Given the description of an element on the screen output the (x, y) to click on. 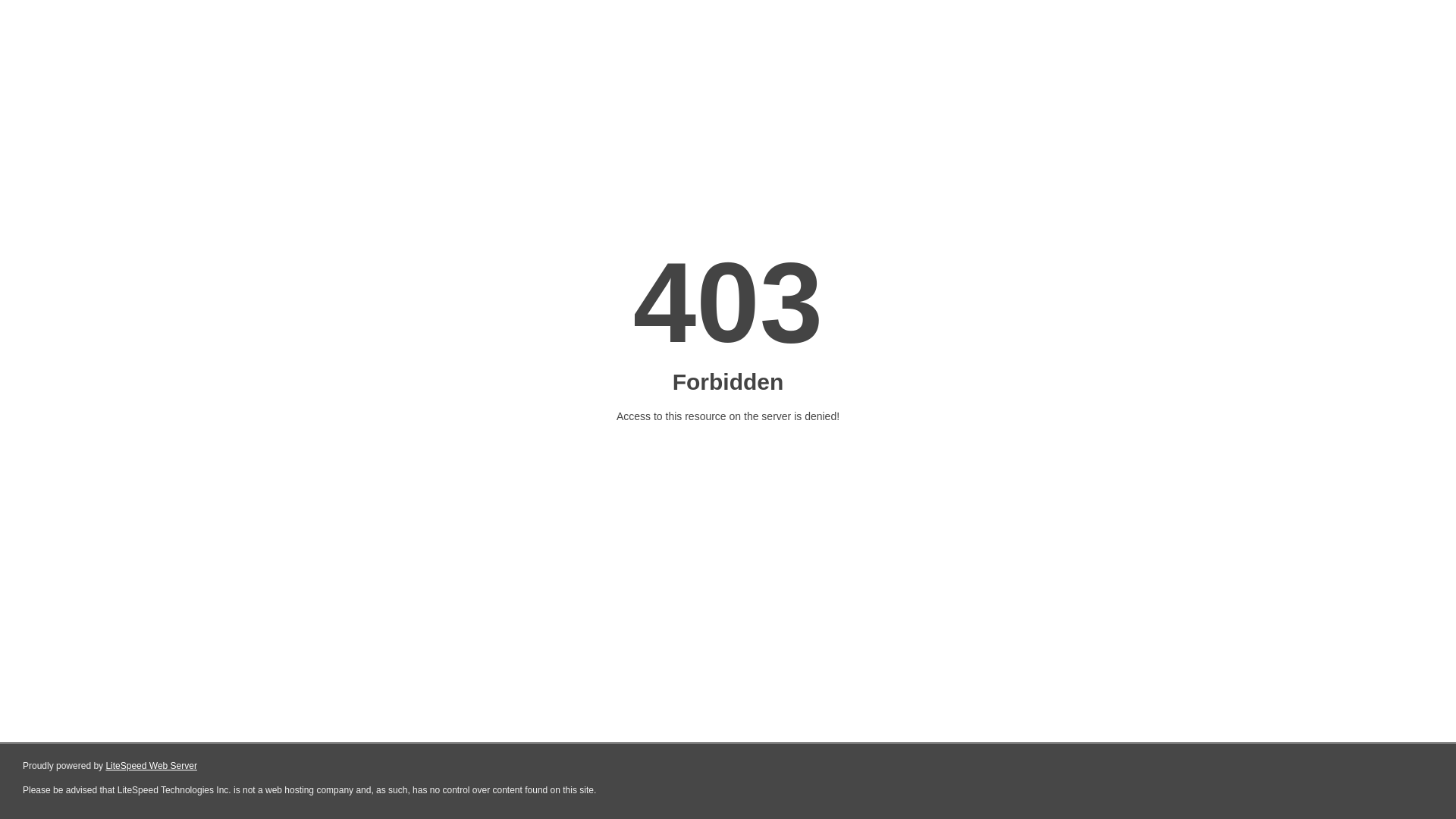
LiteSpeed Web Server Element type: text (151, 765)
